Given the description of an element on the screen output the (x, y) to click on. 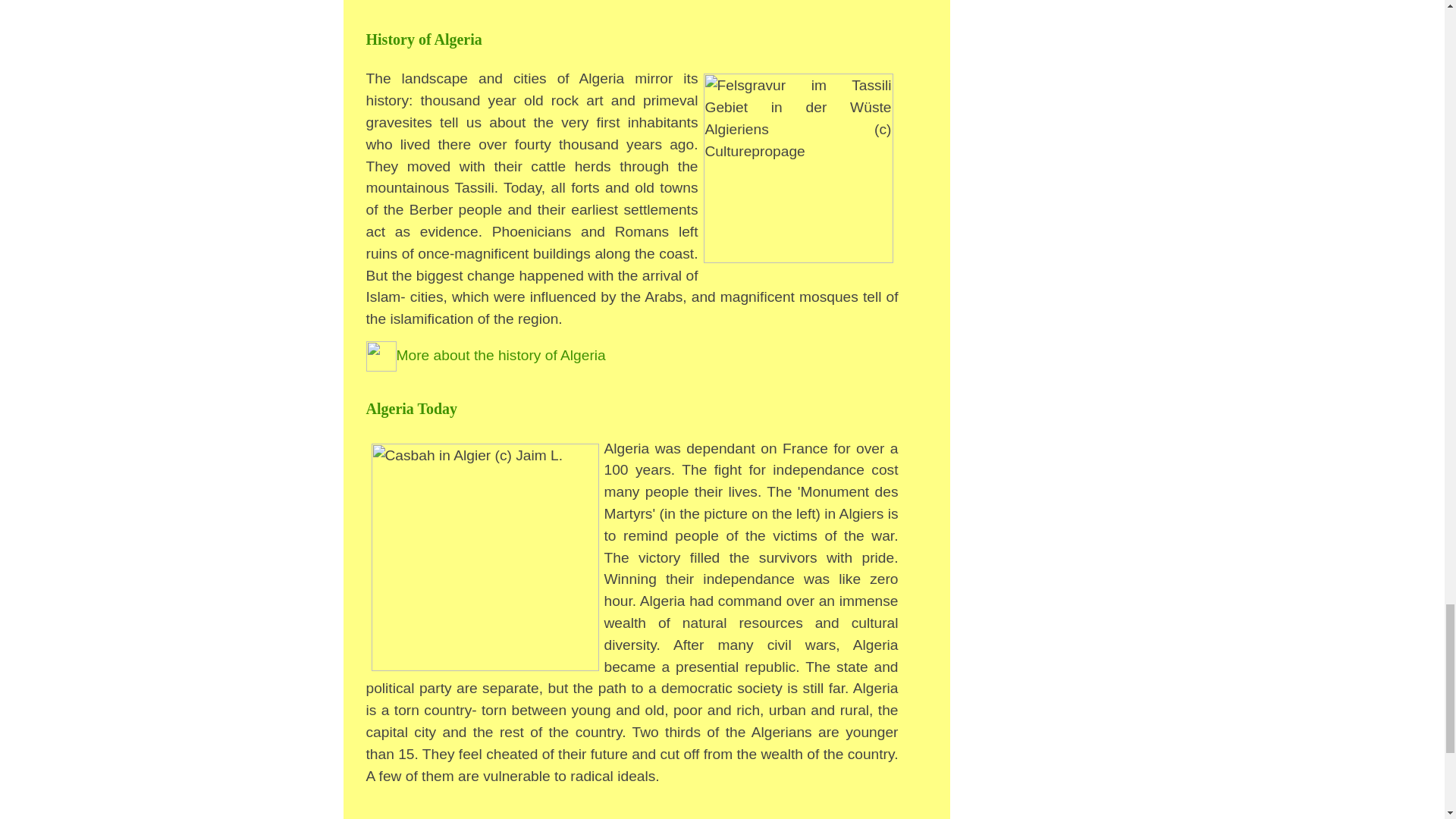
More about the history of Algeria (485, 355)
